Given the description of an element on the screen output the (x, y) to click on. 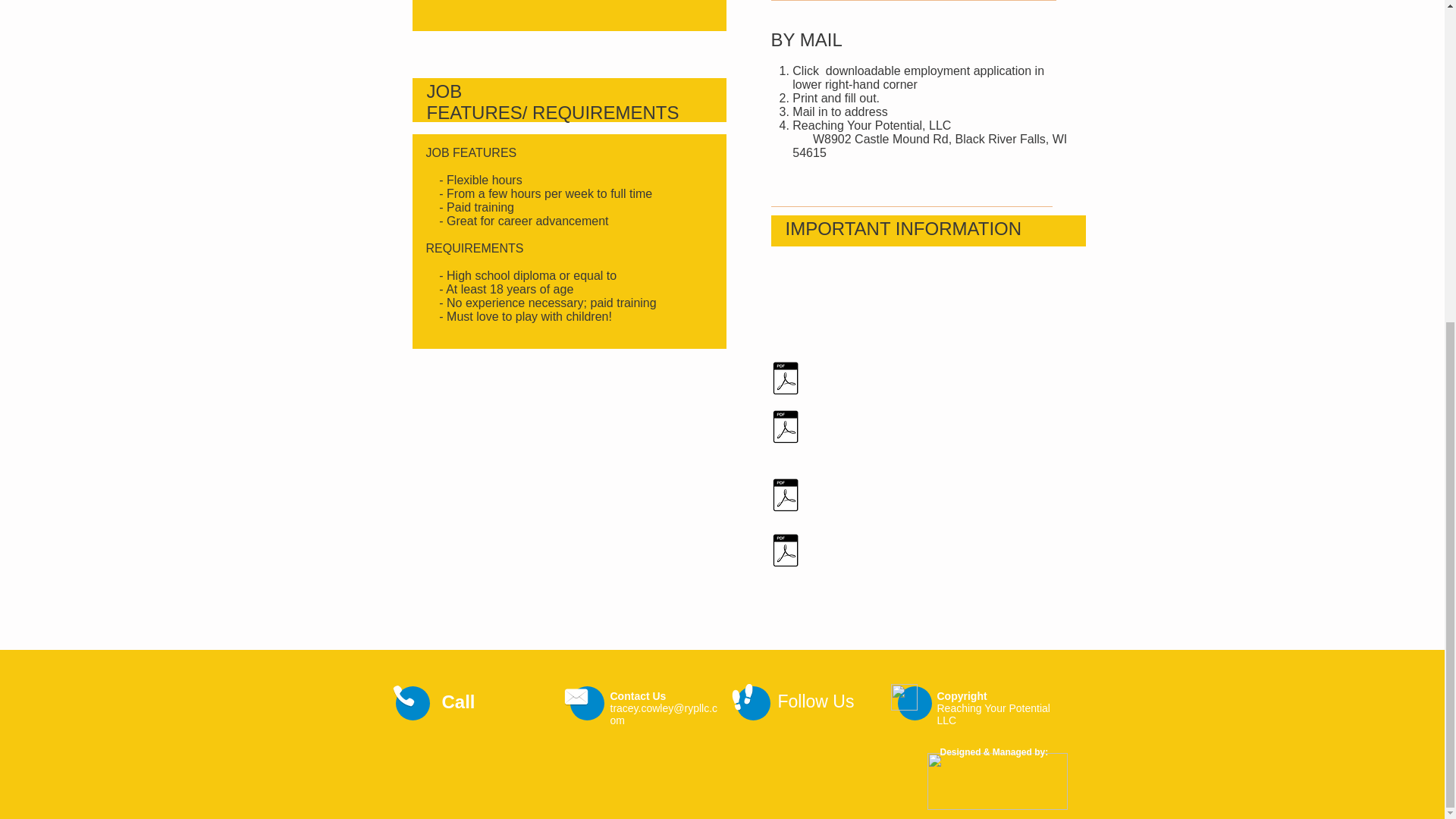
Elevate White.png (996, 780)
Call  (460, 701)
Follow Us (815, 701)
